Given the description of an element on the screen output the (x, y) to click on. 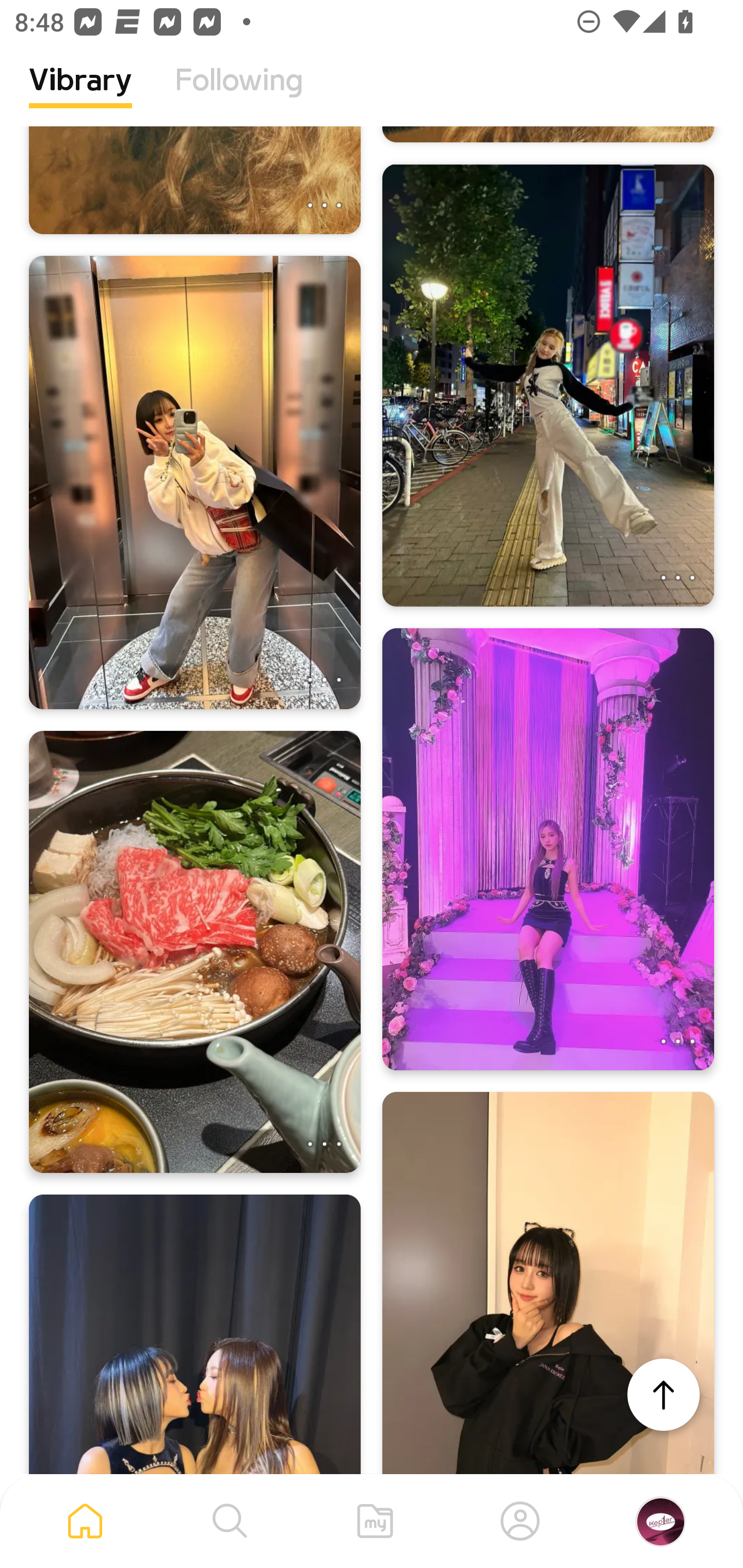
Vibrary (80, 95)
Following (239, 95)
